Given the description of an element on the screen output the (x, y) to click on. 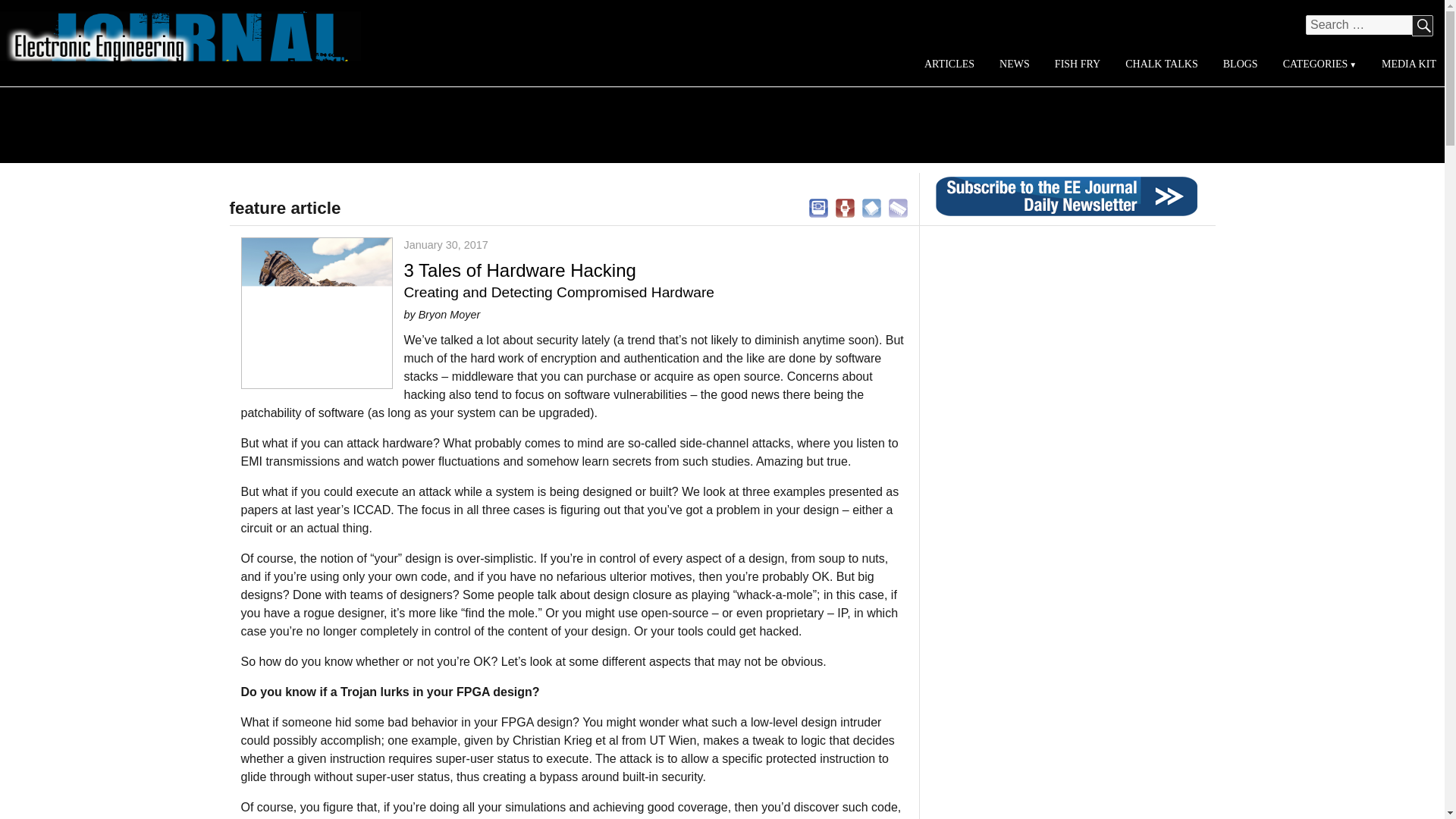
FPGA (872, 206)
EDA (818, 206)
FISH FRY (1077, 63)
ARTICLES (949, 63)
Semiconductor (898, 206)
Embedded (845, 206)
BLOGS (1239, 63)
CATEGORIES (1318, 63)
CHALK TALKS (1161, 63)
NEWS (1014, 63)
